Given the description of an element on the screen output the (x, y) to click on. 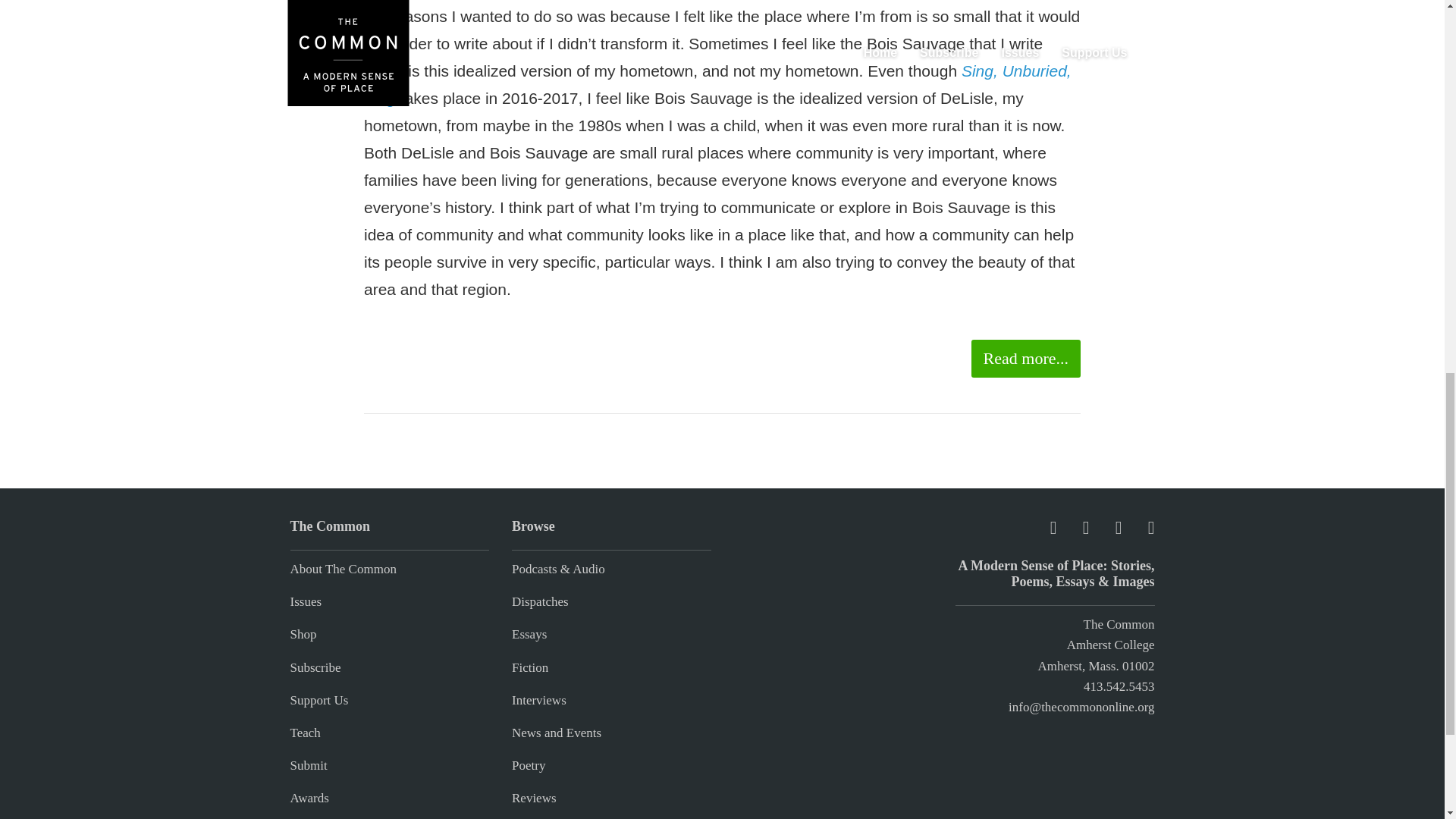
Subscribe (314, 667)
The Common (1118, 624)
Essays (529, 634)
Poetry (528, 765)
Support Us (318, 699)
Issues (305, 601)
Awards (309, 798)
Dispatches (540, 601)
News and Events (556, 732)
Submit (307, 765)
Teach (304, 732)
Read more... (1025, 358)
Fiction (530, 667)
About The Common (342, 568)
Shop (302, 634)
